Given the description of an element on the screen output the (x, y) to click on. 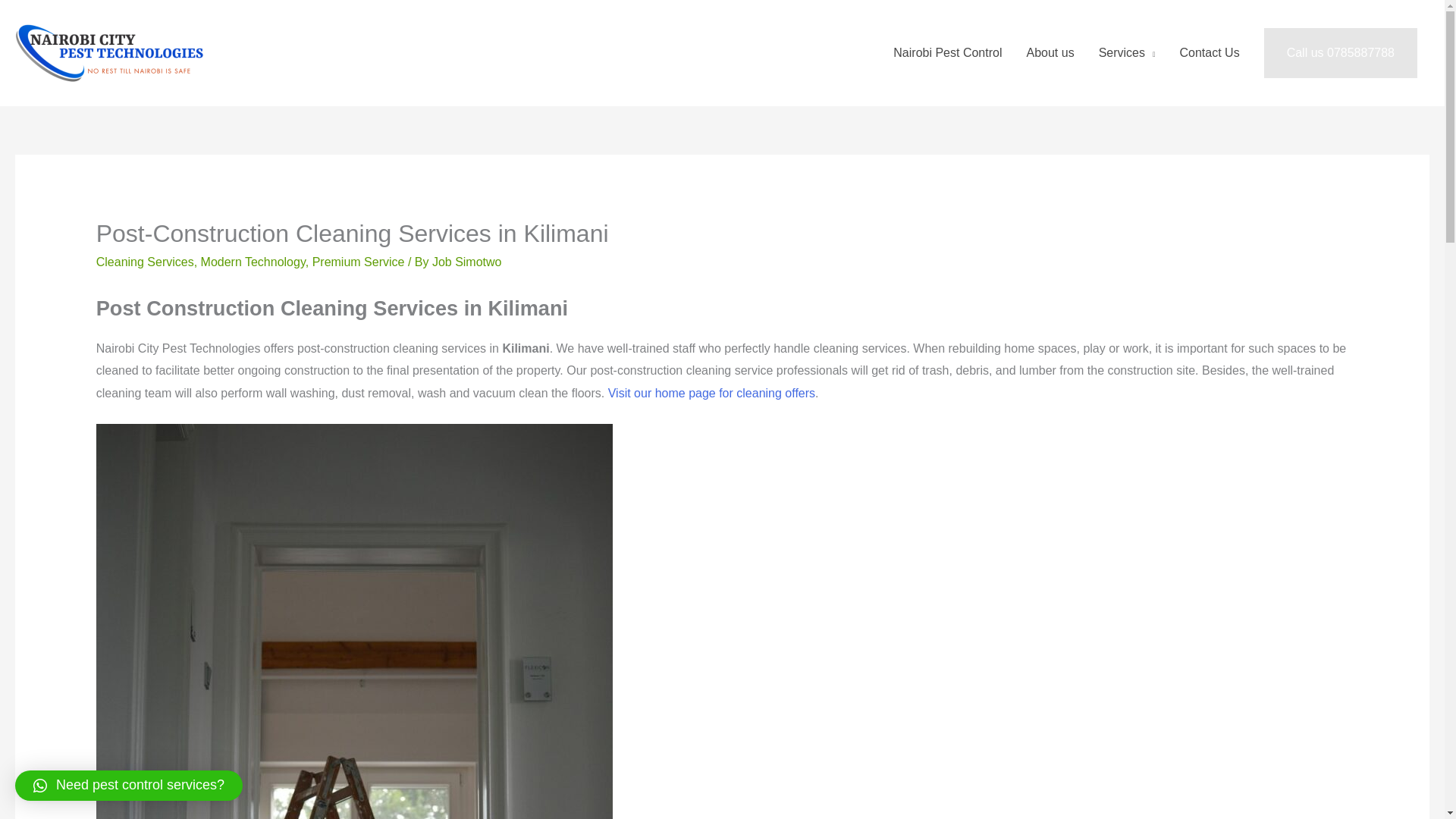
Contact Us (1209, 52)
Call us 0785887788 (1339, 52)
Modern Technology (252, 261)
Services (1126, 52)
Nairobi Pest Control (946, 52)
About us (1049, 52)
Premium Service (358, 261)
View all posts by Job Simotwo (467, 261)
Cleaning Services (144, 261)
Job Simotwo (467, 261)
